Given the description of an element on the screen output the (x, y) to click on. 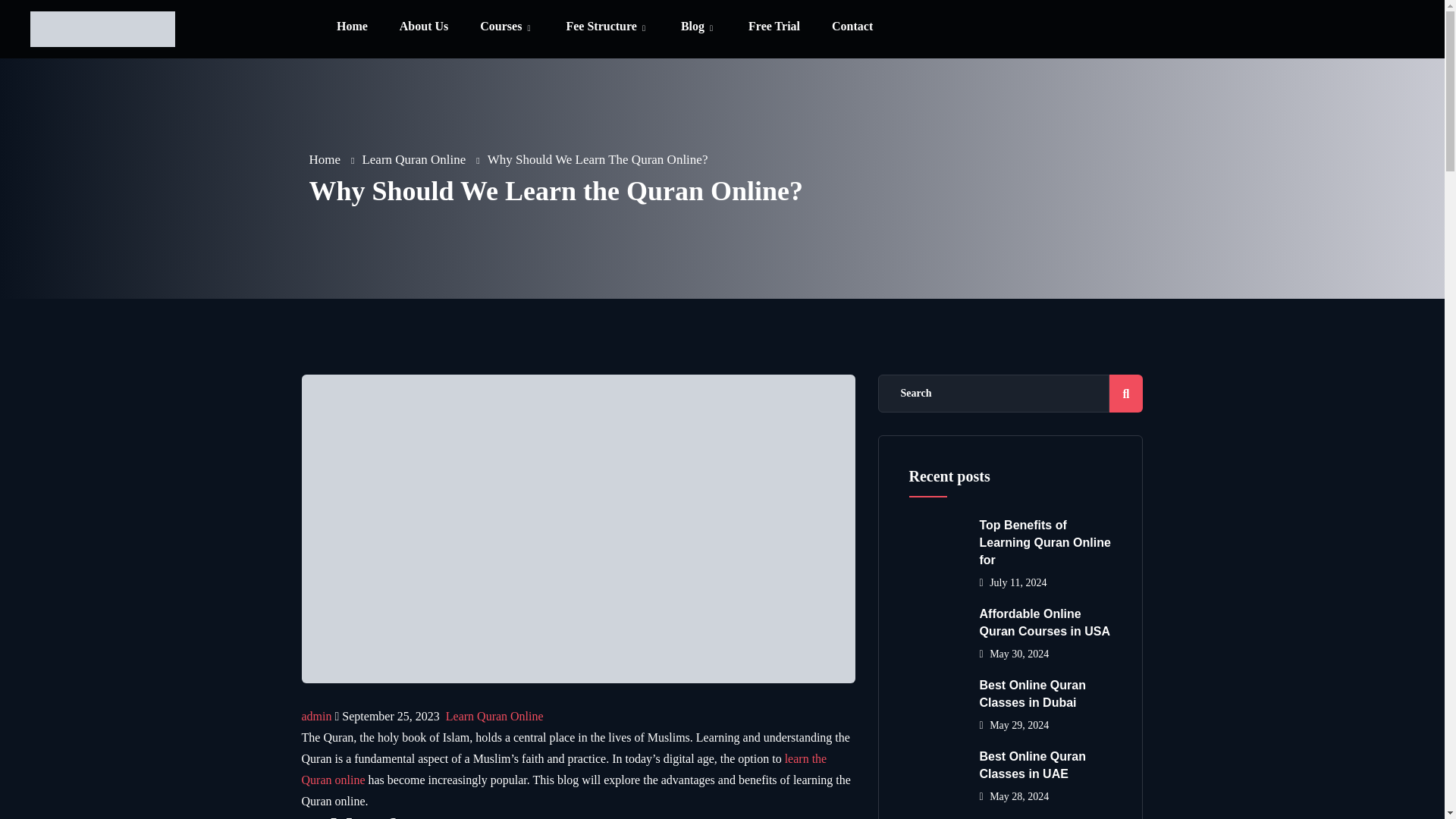
Home (352, 26)
admin (316, 716)
About Us (423, 26)
Fee Structure (606, 26)
Learn Quran Online (494, 716)
Blog (698, 26)
Free Trial (774, 26)
learn the Quran online (564, 769)
Home (324, 159)
Contact (852, 26)
